Given the description of an element on the screen output the (x, y) to click on. 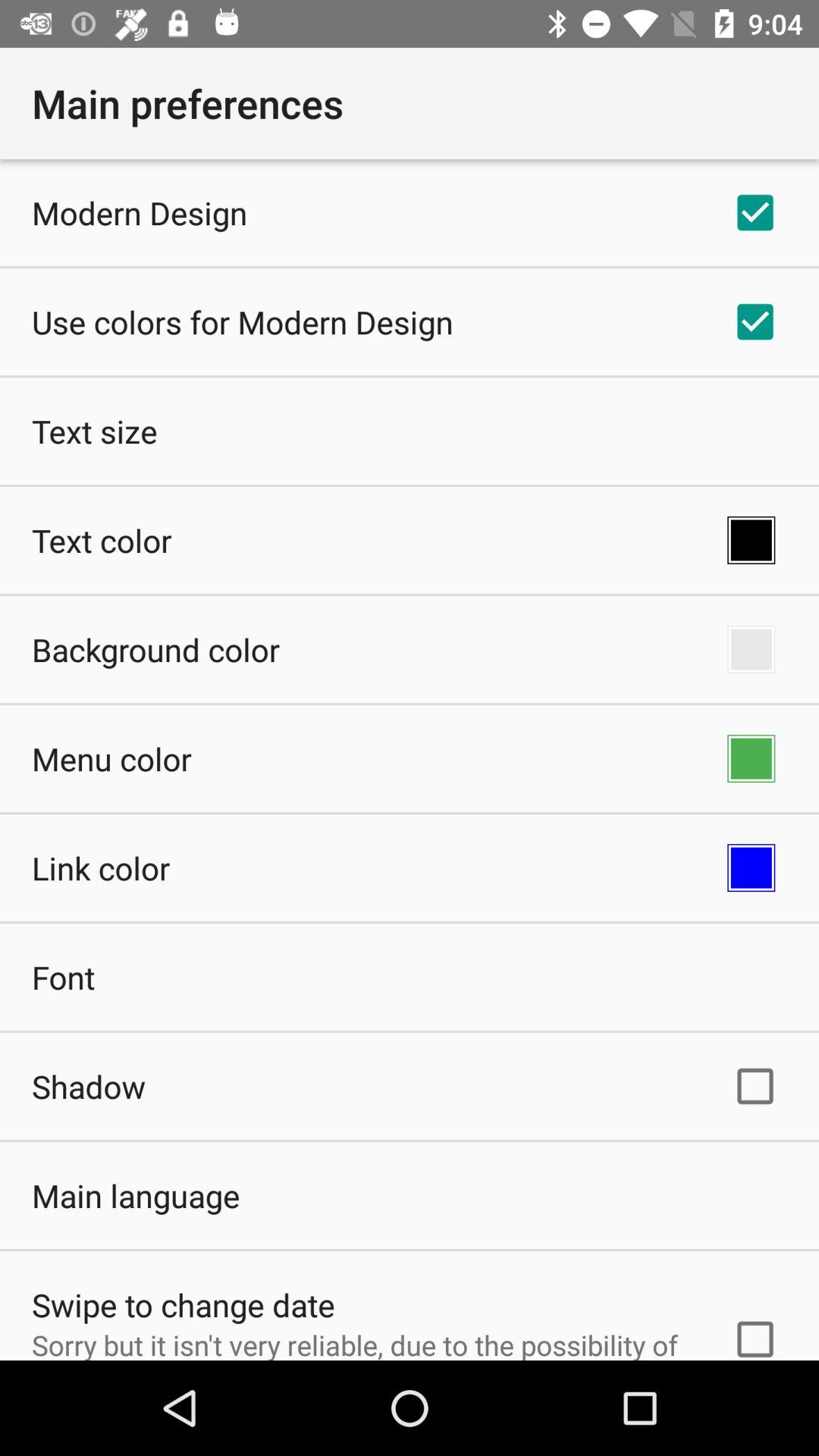
click the app to the right of menu color icon (751, 758)
